Given the description of an element on the screen output the (x, y) to click on. 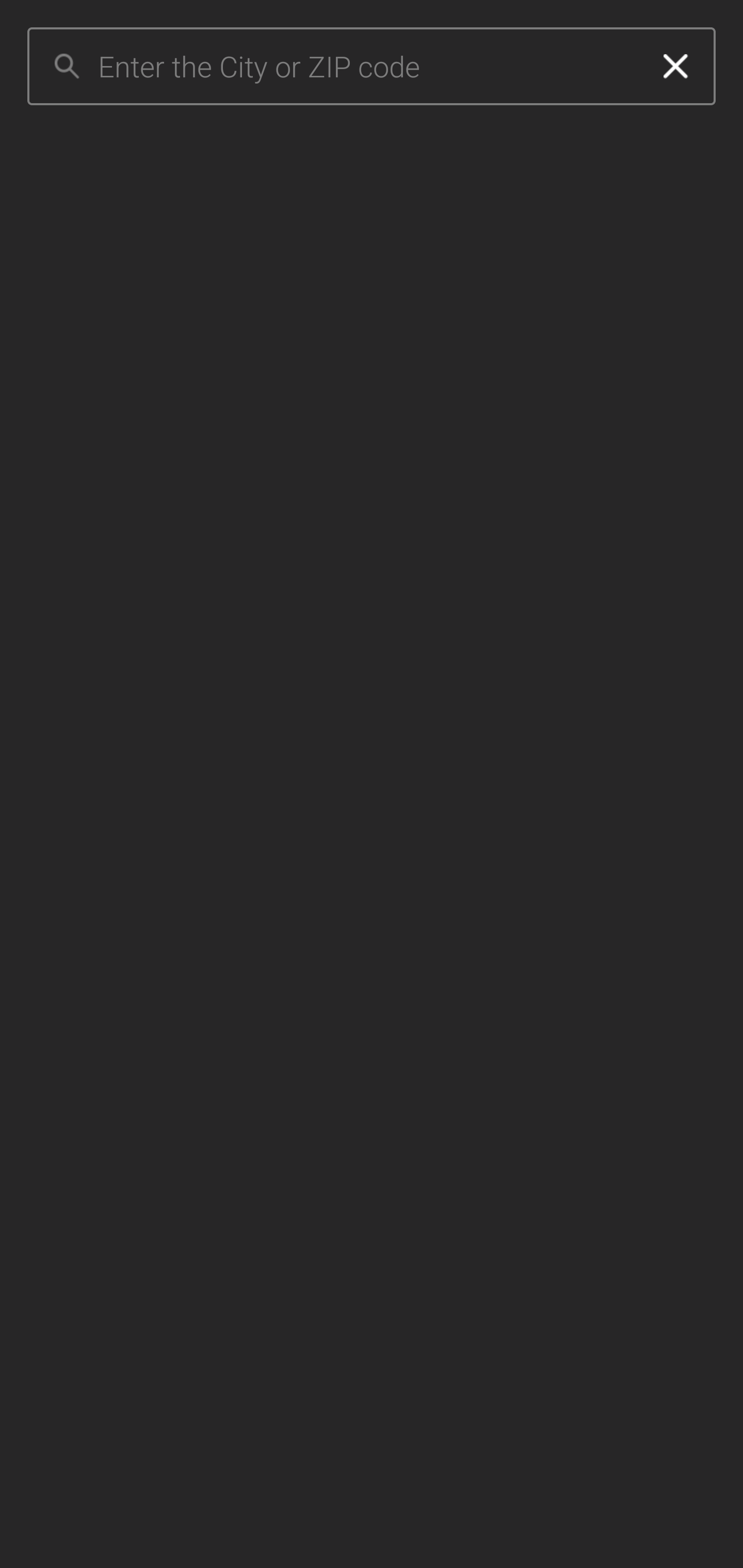
Enter the City or ZIP code (367, 66)
